Given the description of an element on the screen output the (x, y) to click on. 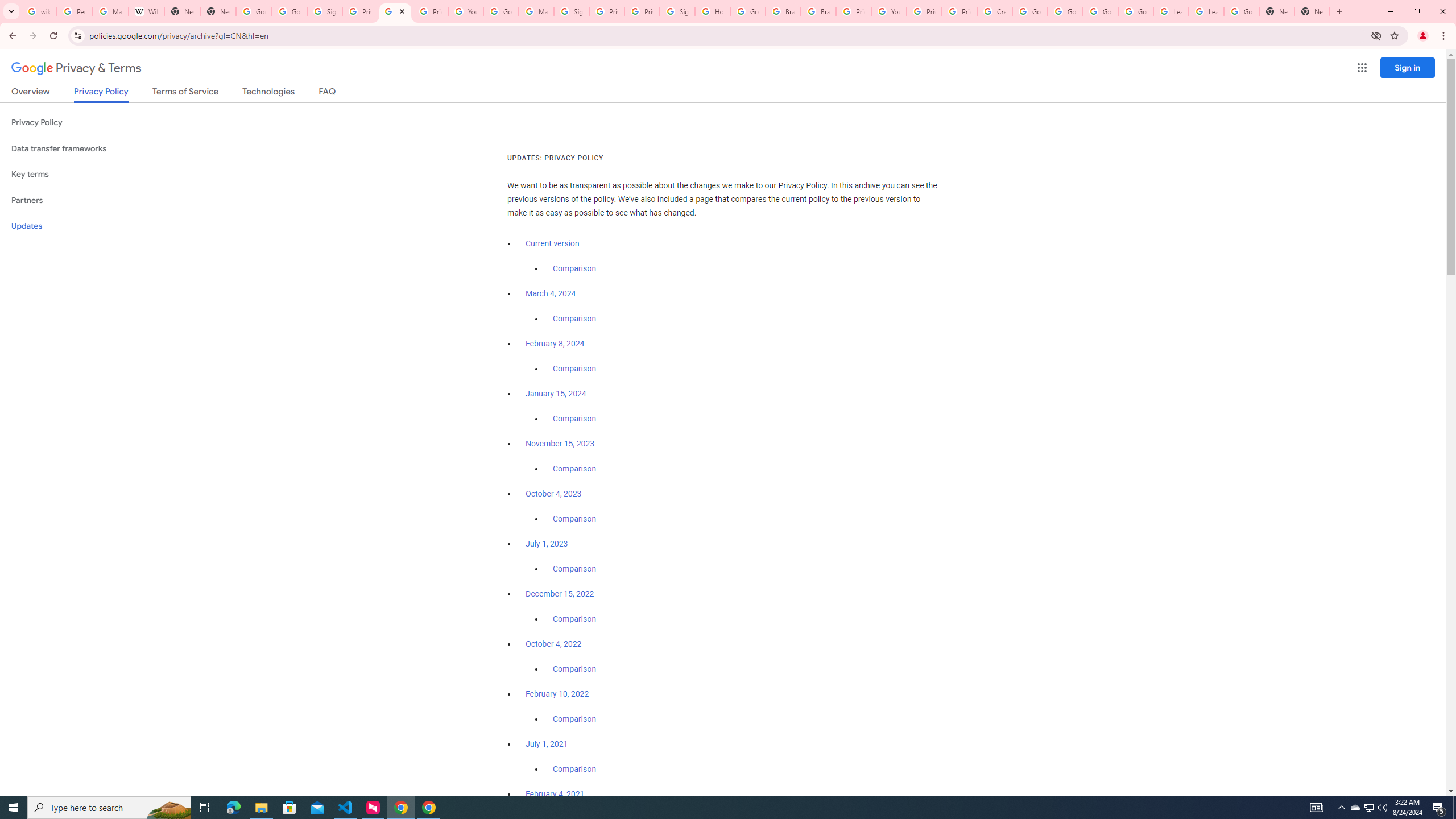
Brand Resource Center (817, 11)
Sign in - Google Accounts (571, 11)
Google Account Help (1029, 11)
Create your Google Account (994, 11)
July 1, 2021 (546, 743)
October 4, 2022 (553, 643)
